Given the description of an element on the screen output the (x, y) to click on. 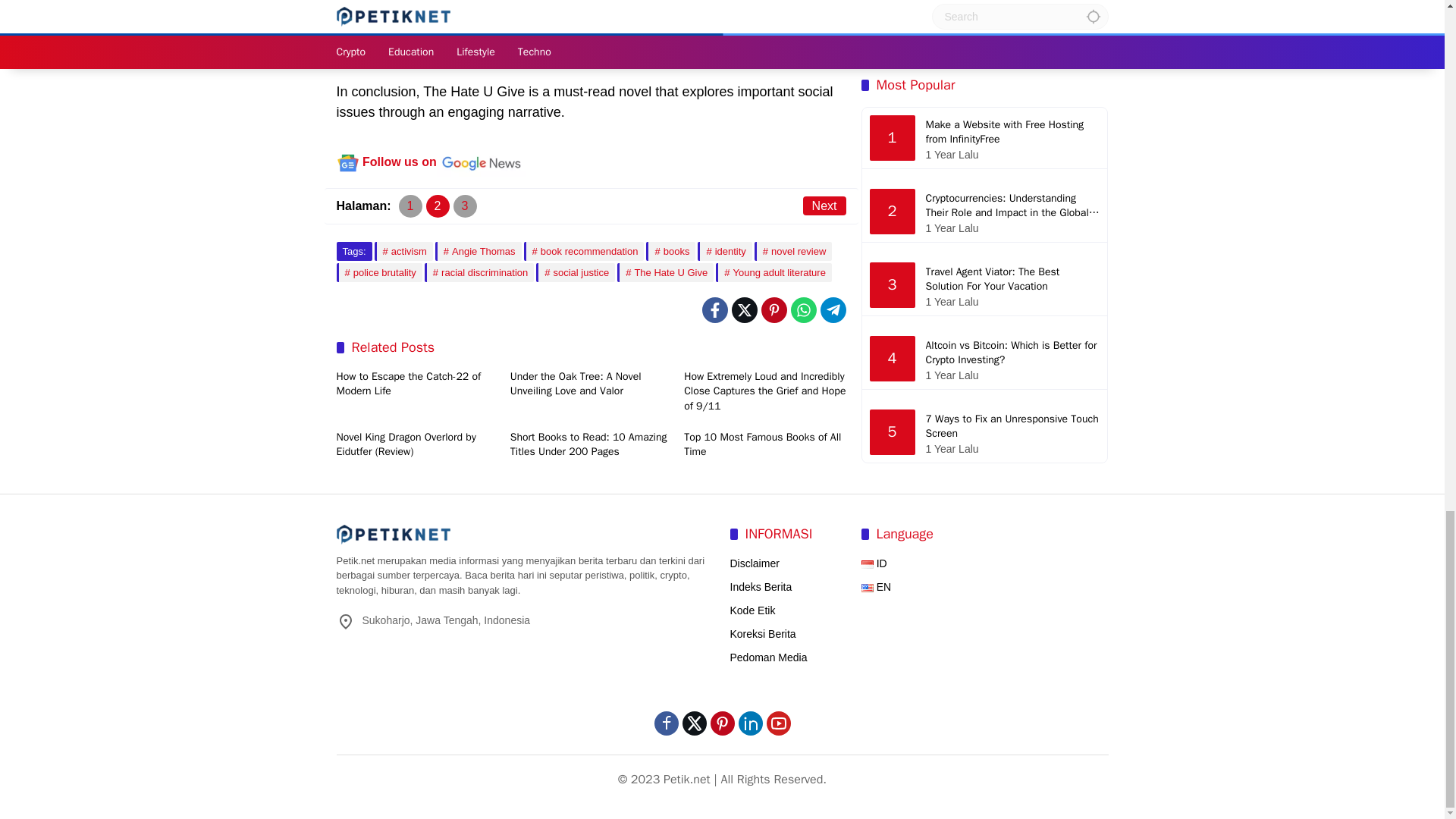
police brutality (379, 271)
identity (724, 251)
novel review (793, 251)
Next (824, 205)
book recommendation (584, 251)
1 (410, 205)
racial discrimination (479, 271)
activism (403, 251)
The Hate U Give (665, 271)
books (670, 251)
3 (464, 205)
Follow us on (430, 161)
social justice (574, 271)
Young adult literature (773, 271)
Angie Thomas (478, 251)
